Given the description of an element on the screen output the (x, y) to click on. 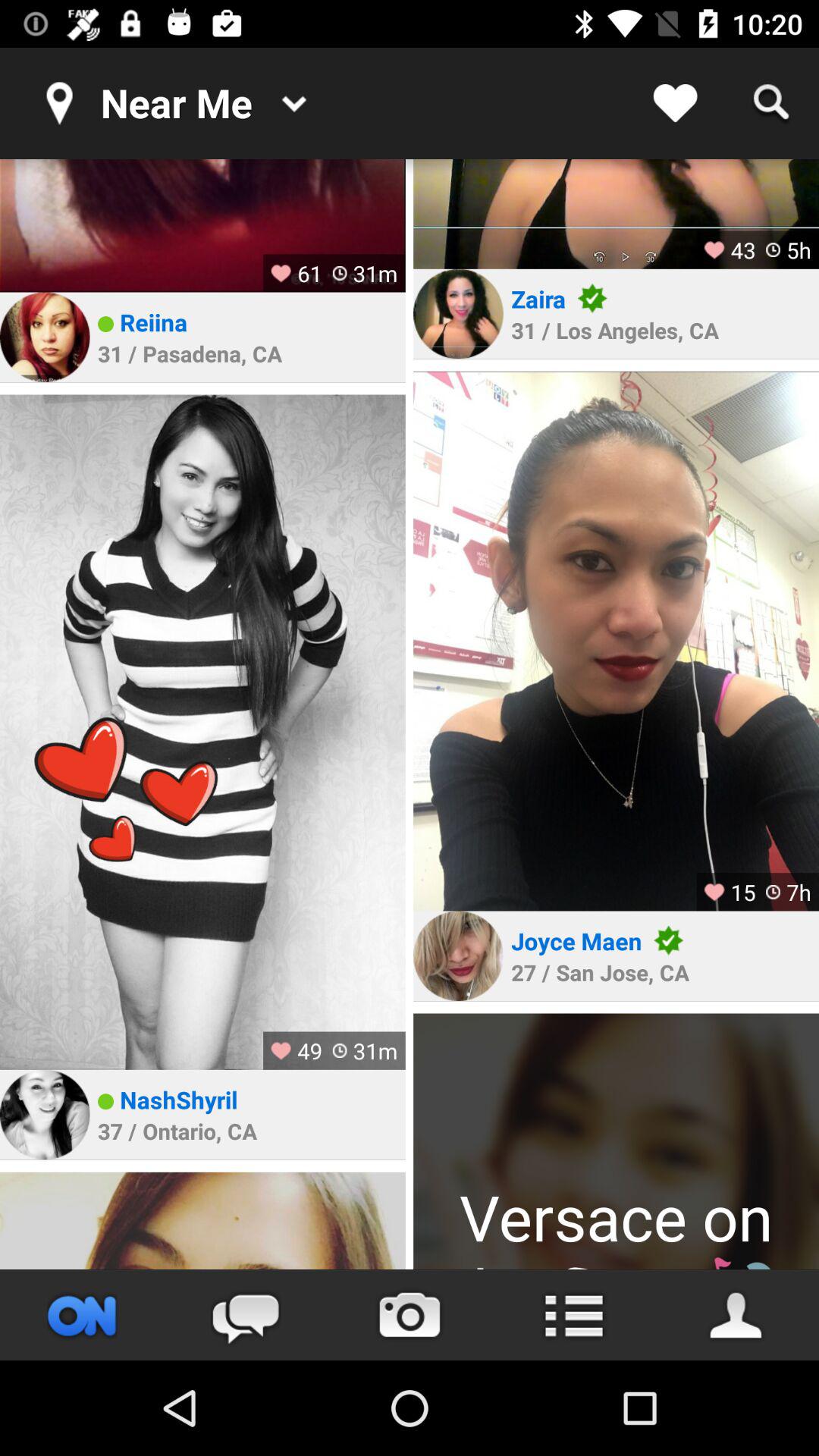
click on the imagine option (616, 214)
